Given the description of an element on the screen output the (x, y) to click on. 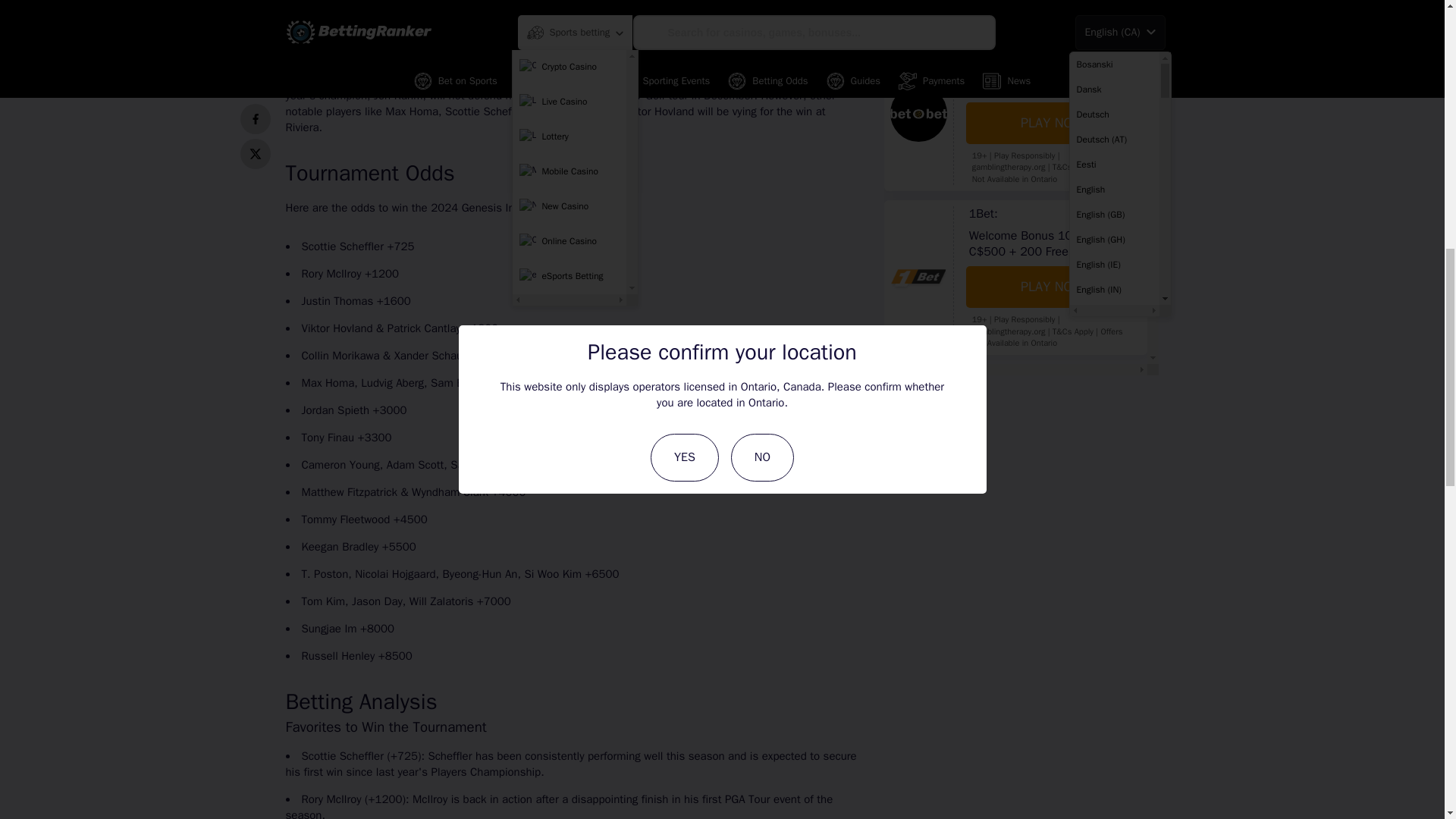
Hrvatski (1113, 4)
